Given the description of an element on the screen output the (x, y) to click on. 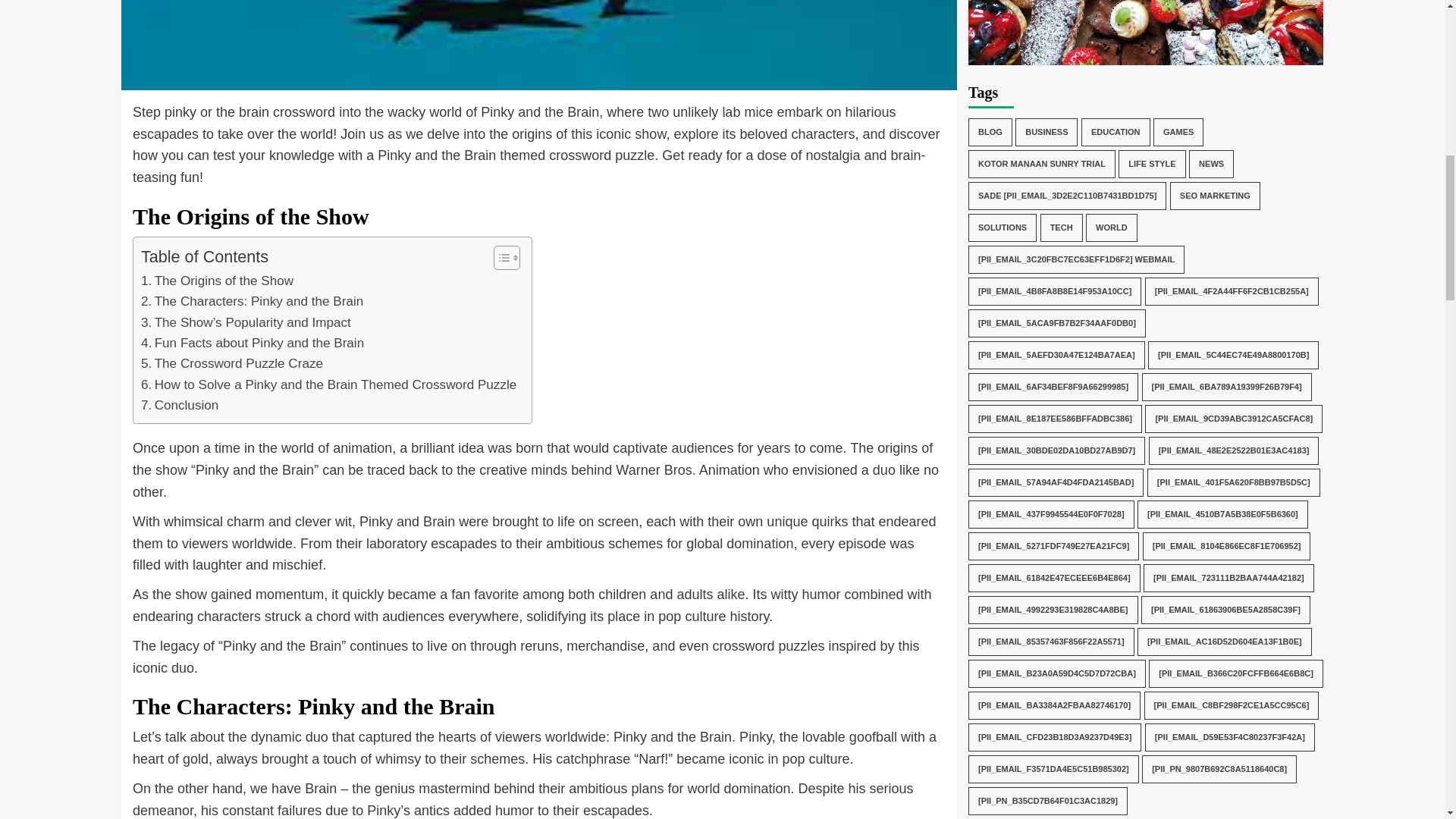
The Characters: Pinky and the Brain (251, 301)
Fun Facts about Pinky and the Brain (252, 342)
Conclusion (179, 404)
The Origins of the Show (217, 281)
Fun Facts about Pinky and the Brain (252, 342)
Conclusion (179, 404)
The Crossword Puzzle Craze (232, 362)
The Characters: Pinky and the Brain (251, 301)
The Crossword Puzzle Craze (232, 362)
How to Solve a Pinky and the Brain Themed Crossword Puzzle (328, 384)
